Given the description of an element on the screen output the (x, y) to click on. 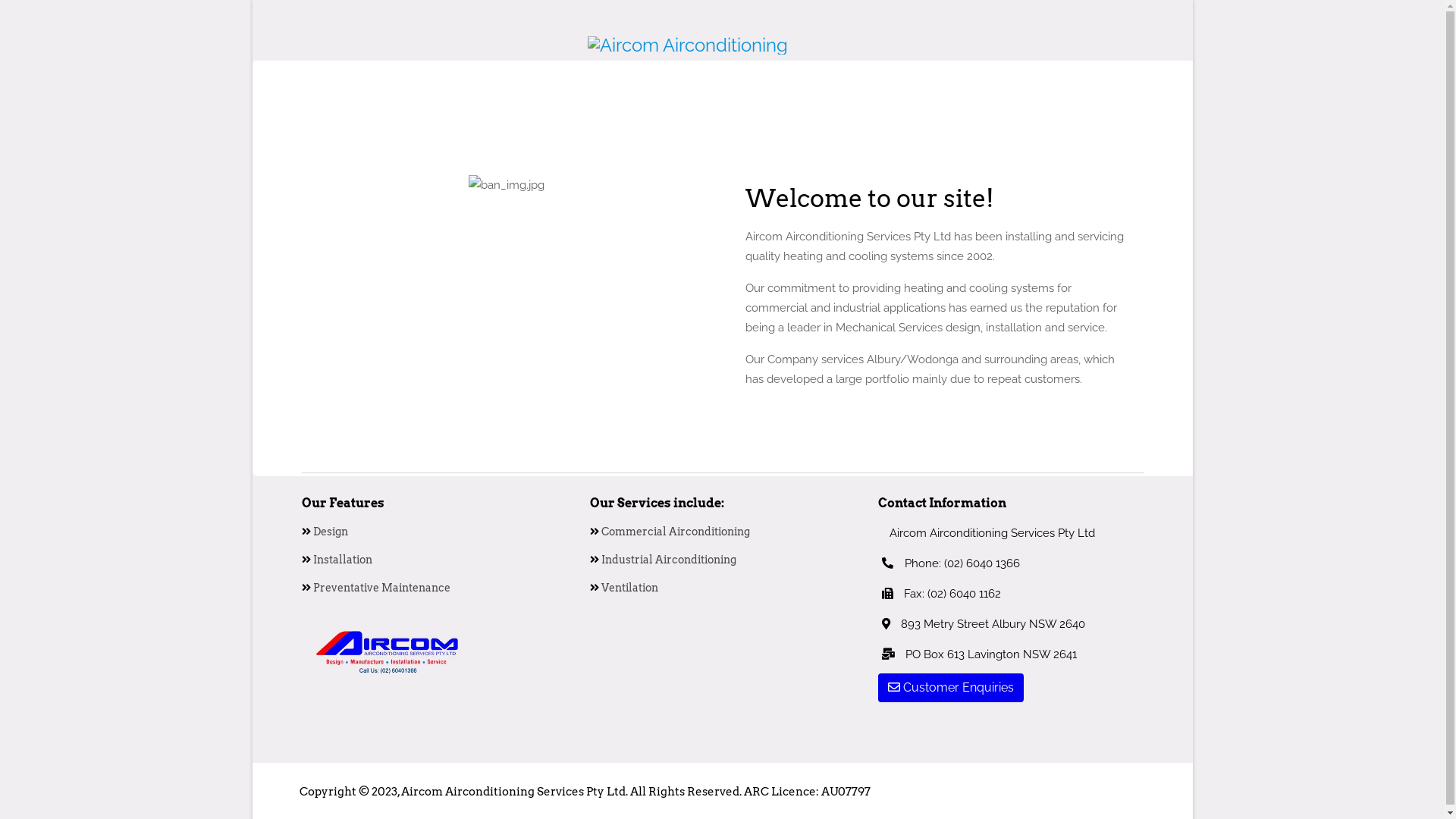
Fax: (02) 6040 1162 Element type: text (939, 593)
PO Box 613 Lavington NSW 2641 Element type: text (977, 654)
Customer Enquiries Element type: text (950, 687)
Phone: (02) 6040 1366 Element type: text (959, 563)
Aircom Airconditioning Services Pty Ltd Element type: text (986, 532)
893 Metry Street Albury NSW 2640 Element type: text (981, 623)
